Given the description of an element on the screen output the (x, y) to click on. 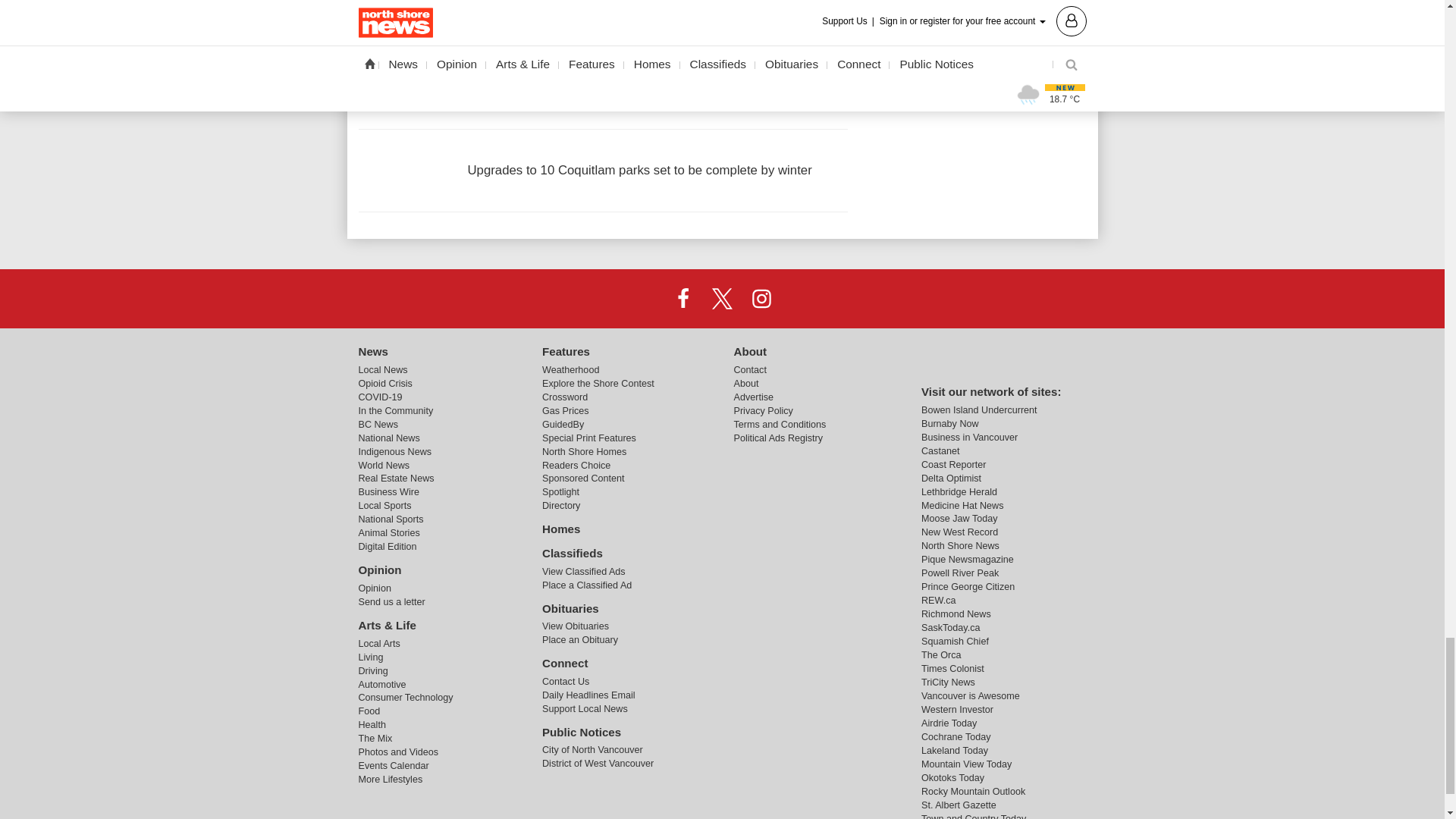
X (721, 297)
Instagram (760, 297)
Facebook (683, 297)
